Given the description of an element on the screen output the (x, y) to click on. 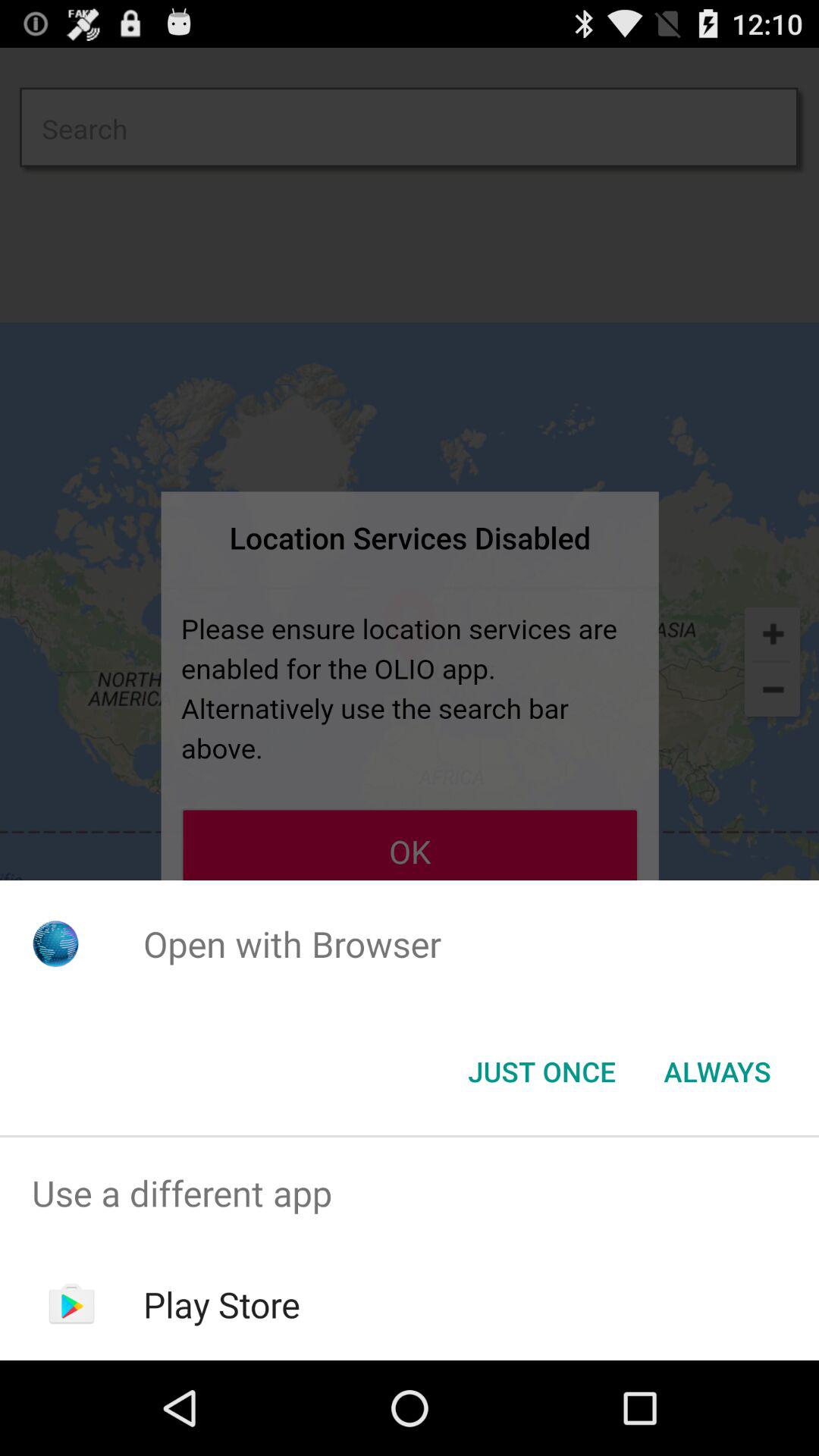
turn on icon at the bottom right corner (717, 1071)
